Given the description of an element on the screen output the (x, y) to click on. 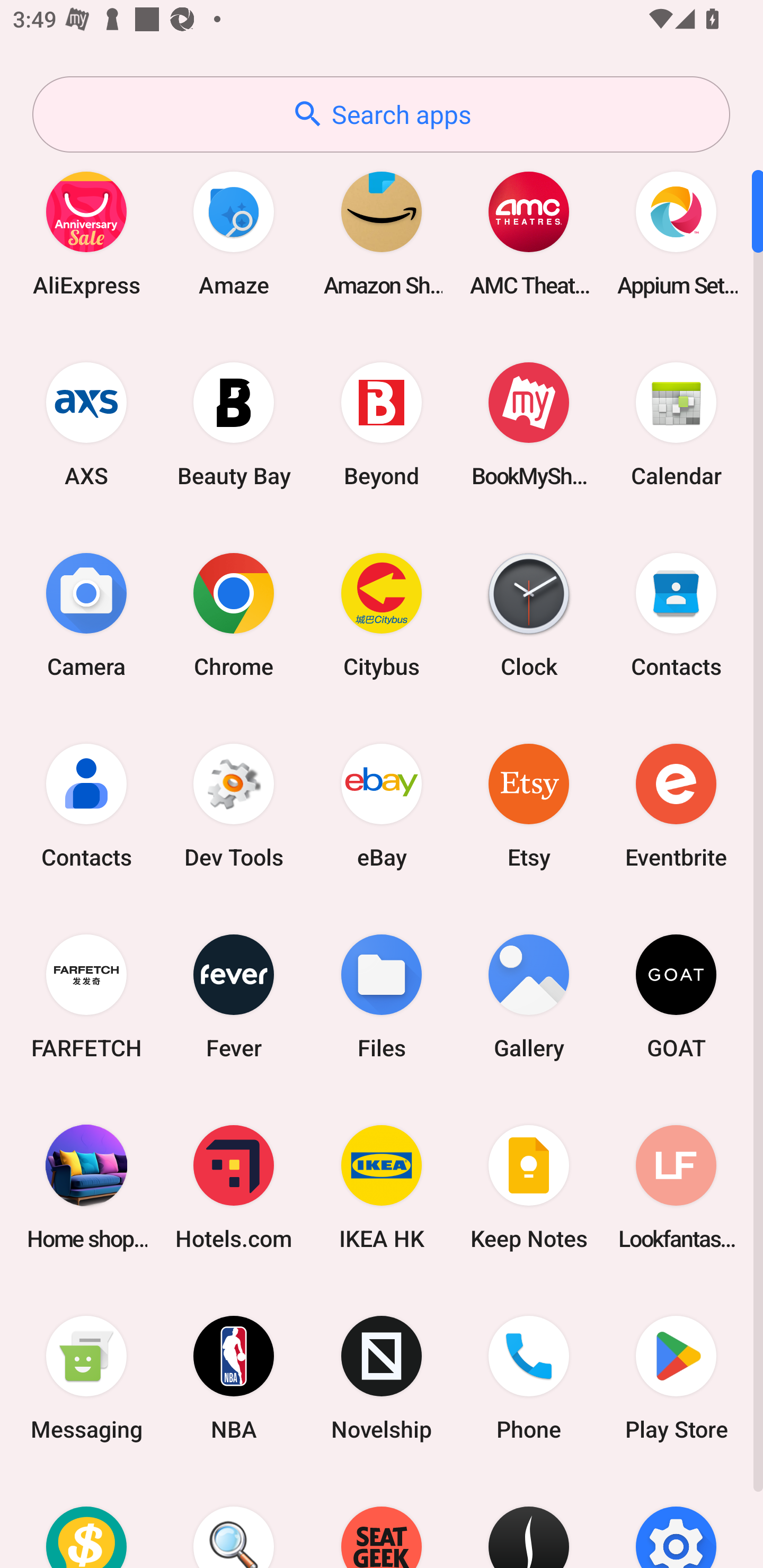
  Search apps (381, 114)
AliExpress (86, 233)
Amaze (233, 233)
Amazon Shopping (381, 233)
AMC Theatres (528, 233)
Appium Settings (676, 233)
AXS (86, 424)
Beauty Bay (233, 424)
Beyond (381, 424)
BookMyShow (528, 424)
Calendar (676, 424)
Camera (86, 614)
Chrome (233, 614)
Citybus (381, 614)
Clock (528, 614)
Contacts (676, 614)
Contacts (86, 805)
Dev Tools (233, 805)
eBay (381, 805)
Etsy (528, 805)
Eventbrite (676, 805)
FARFETCH (86, 996)
Fever (233, 996)
Files (381, 996)
Gallery (528, 996)
GOAT (676, 996)
Home shopping (86, 1186)
Hotels.com (233, 1186)
IKEA HK (381, 1186)
Keep Notes (528, 1186)
Lookfantastic (676, 1186)
Messaging (86, 1377)
NBA (233, 1377)
Novelship (381, 1377)
Phone (528, 1377)
Play Store (676, 1377)
